Given the description of an element on the screen output the (x, y) to click on. 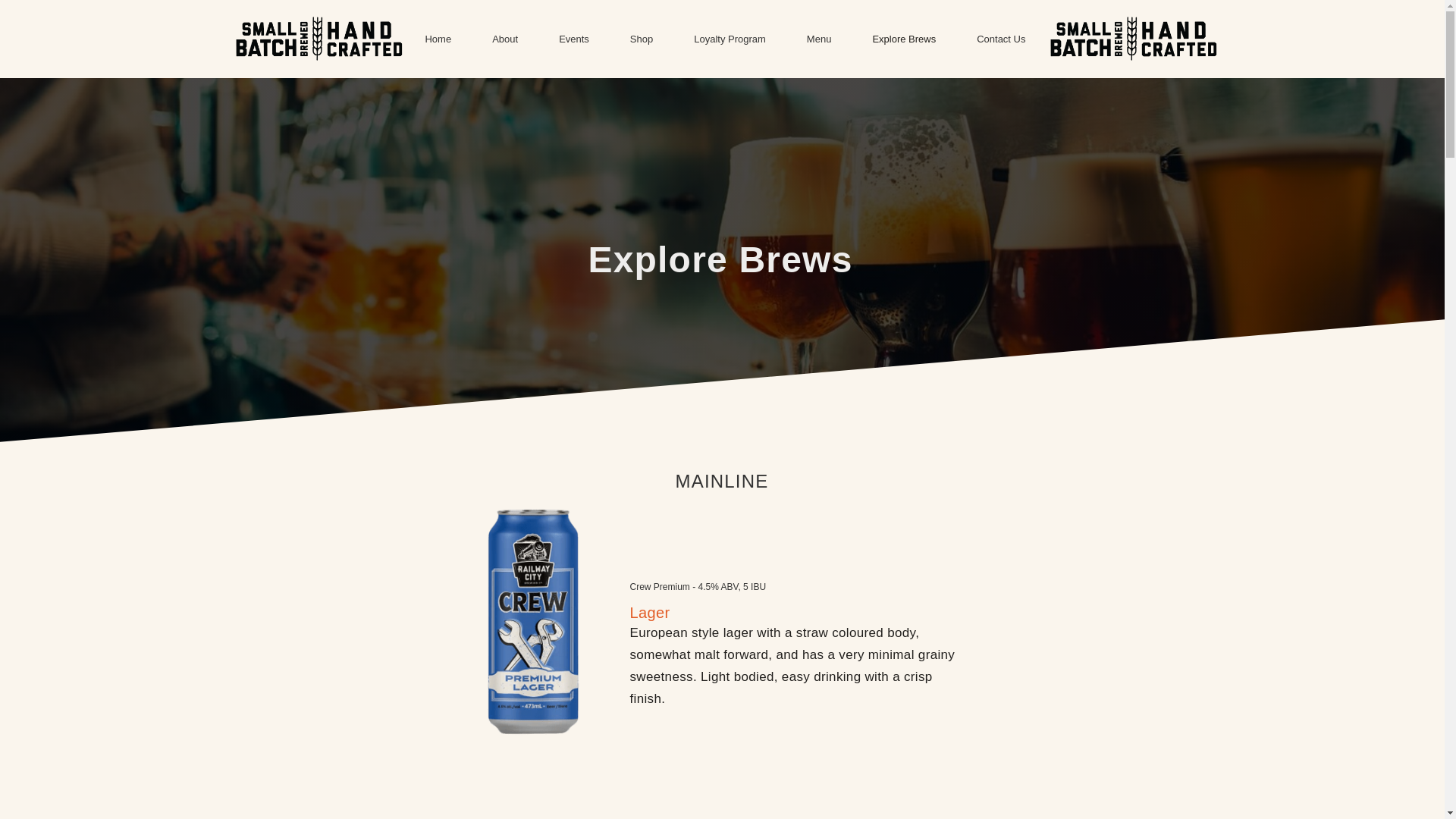
Home (438, 39)
About (505, 39)
Explore Brews (904, 39)
Contact Us (1000, 39)
Events (574, 39)
Menu (818, 39)
Loyalty Program (729, 39)
Shop (641, 39)
